Given the description of an element on the screen output the (x, y) to click on. 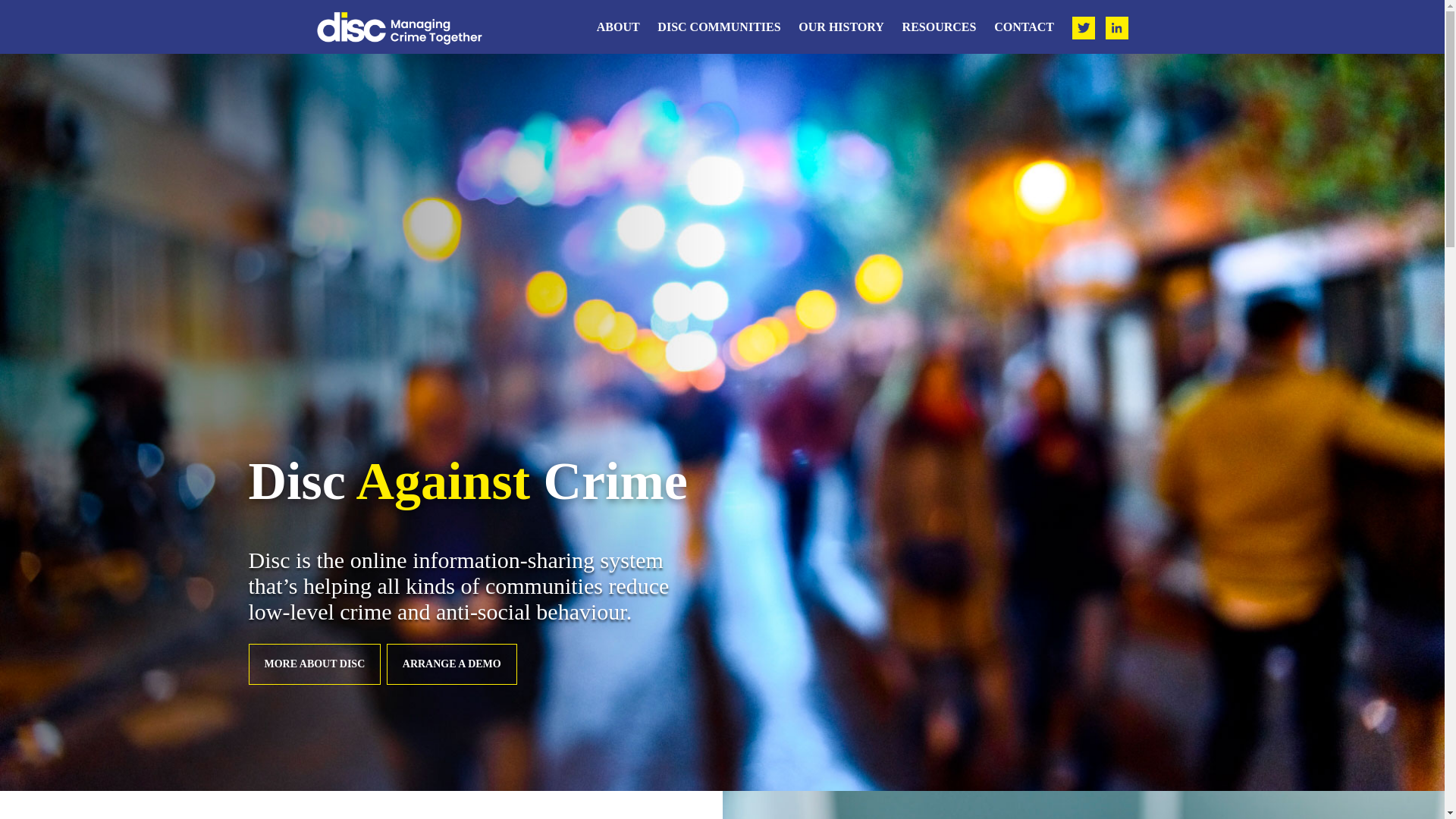
ARRANGE A DEMO (451, 663)
OUR HISTORY (840, 27)
DISC COMMUNITIES (718, 27)
RESOURCES (939, 27)
CONTACT (1024, 27)
MORE ABOUT DISC (314, 663)
ABOUT (618, 27)
